Given the description of an element on the screen output the (x, y) to click on. 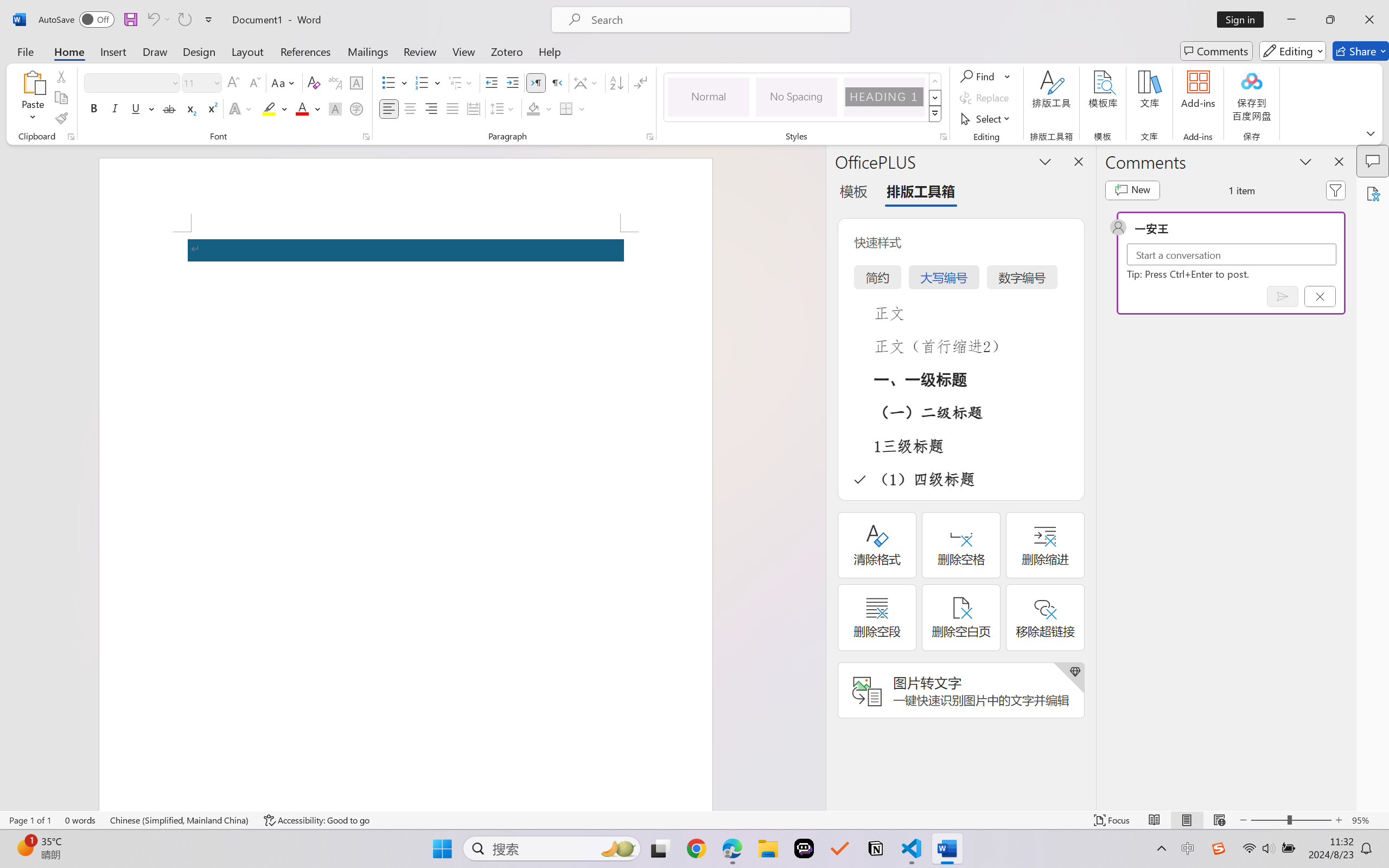
Language Chinese (Simplified, Mainland China) (179, 819)
Undo Apply Quick Style Set (152, 19)
Cancel (1320, 296)
Filter (1335, 190)
Shading No Color (533, 108)
